Given the description of an element on the screen output the (x, y) to click on. 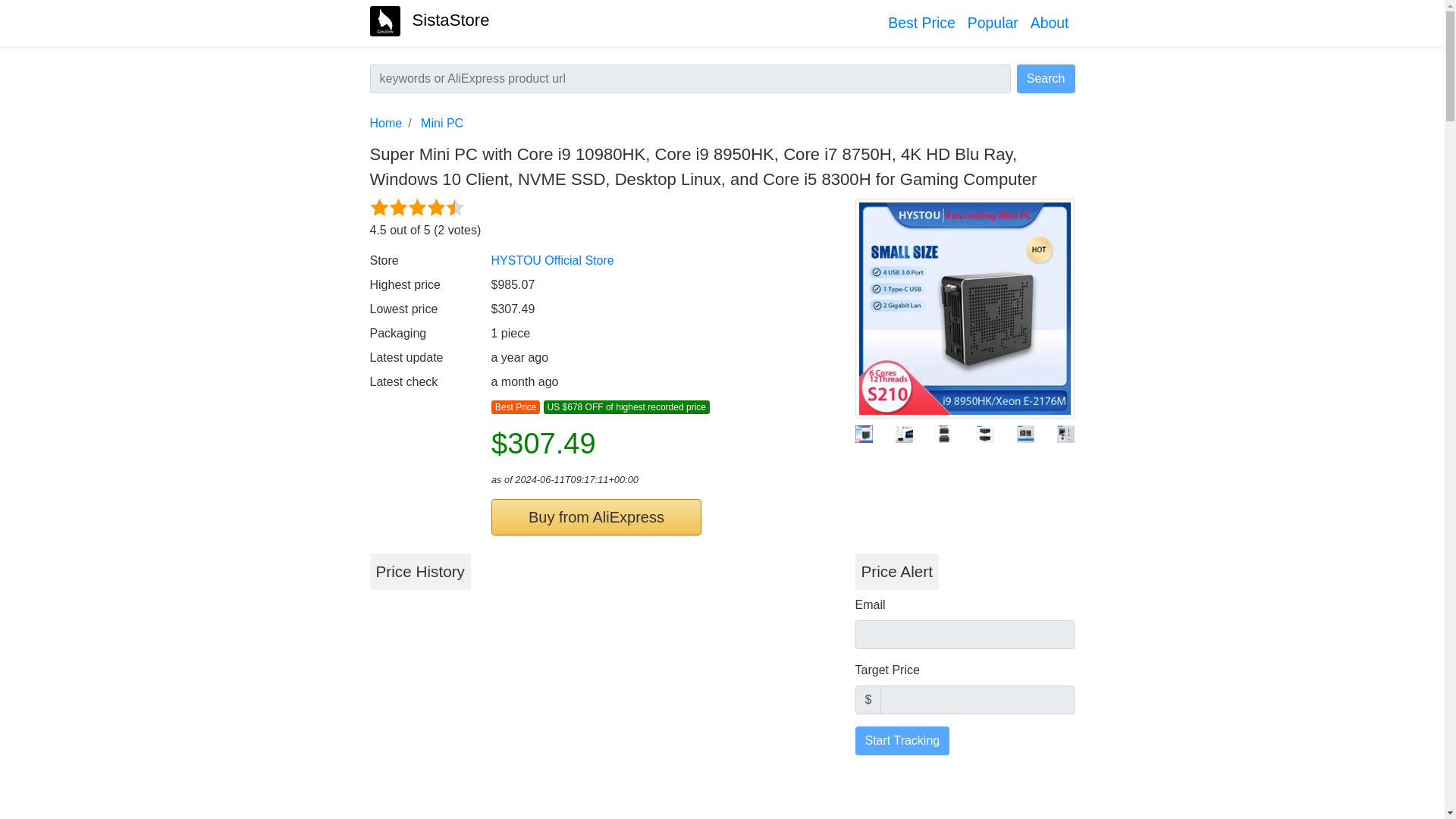
Mini PC (441, 123)
HYSTOU Official Store (553, 259)
Start Tracking (903, 740)
Best Price (921, 22)
Search (1045, 78)
SistaStore (429, 20)
About (1050, 22)
Popular (992, 22)
Home (386, 123)
Buy from AliExpress (596, 516)
